Given the description of an element on the screen output the (x, y) to click on. 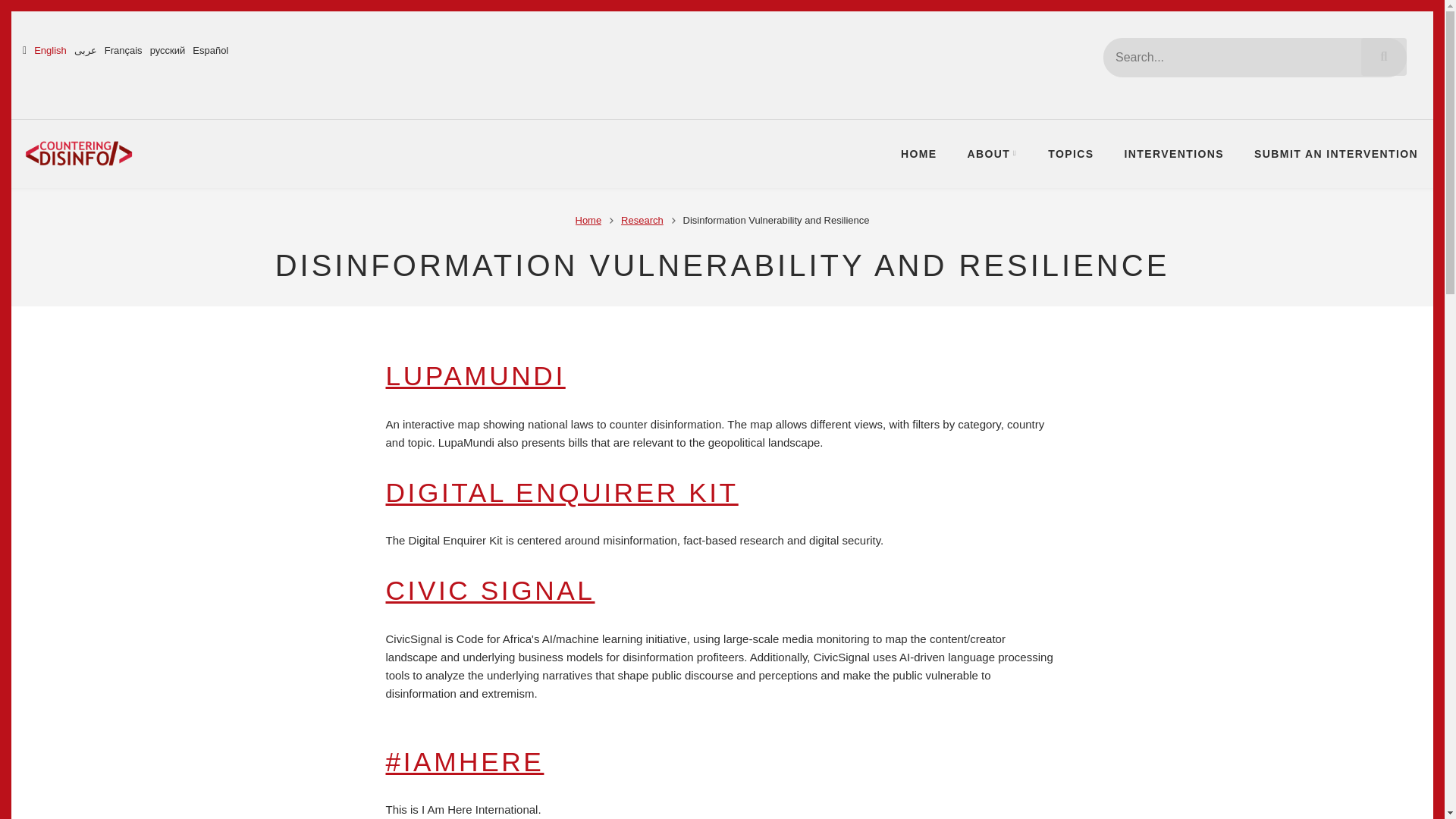
INTERVENTIONS (1173, 153)
Research (642, 220)
Search (1383, 56)
Search (1383, 56)
DIGITAL ENQUIRER KIT (561, 491)
Enter the terms you wish to search for. (1254, 56)
Home (588, 220)
CIVIC SIGNAL (489, 590)
English (49, 50)
Home (79, 152)
